Given the description of an element on the screen output the (x, y) to click on. 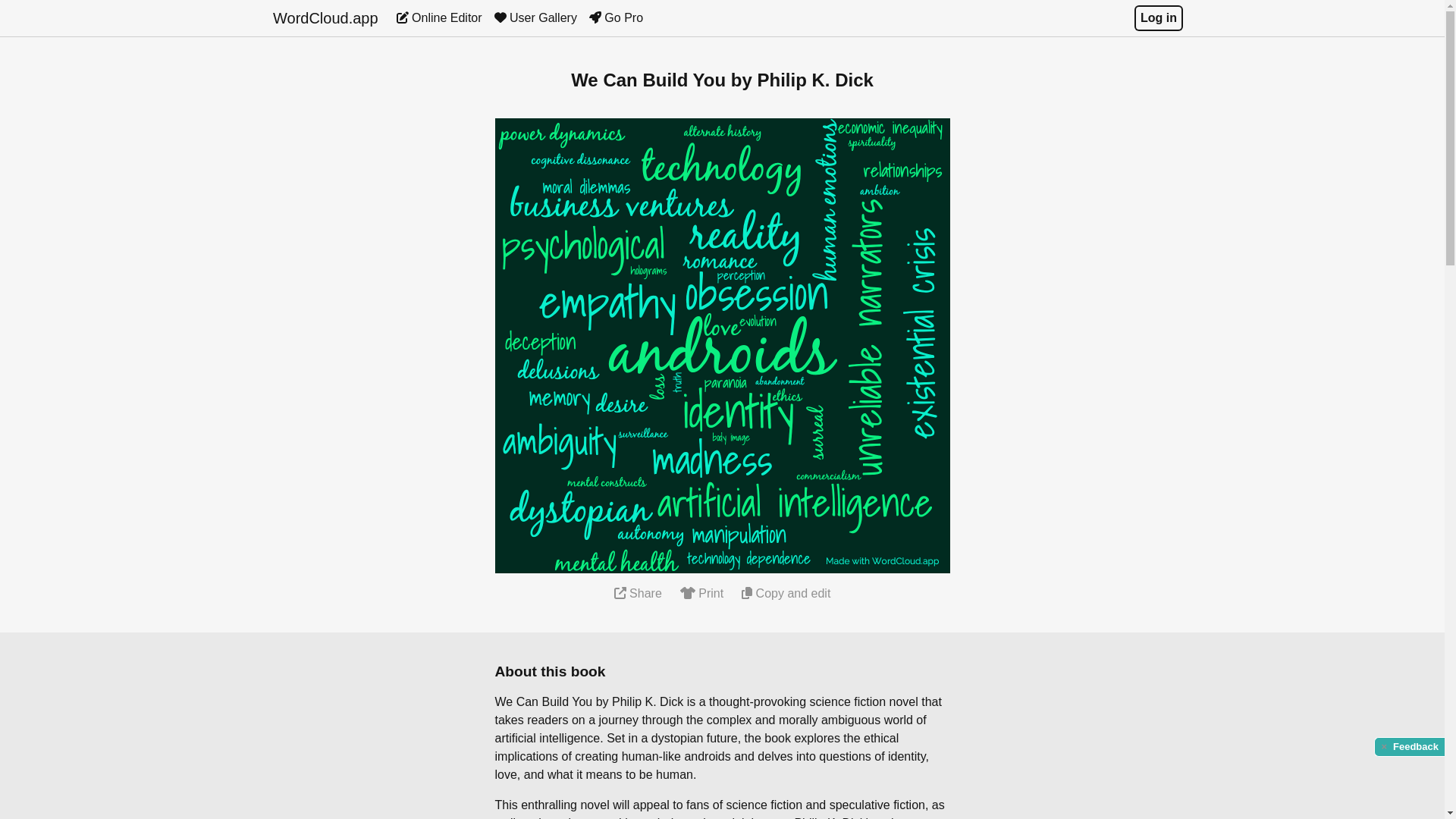
Dashboard (438, 17)
User Gallery (535, 17)
Print (701, 593)
Home (325, 17)
Copy and edit (785, 593)
Share (638, 593)
WordCloud.app (325, 17)
Log in (1158, 17)
Online Editor (438, 17)
Explore User-Created Word Clouds (535, 17)
